Given the description of an element on the screen output the (x, y) to click on. 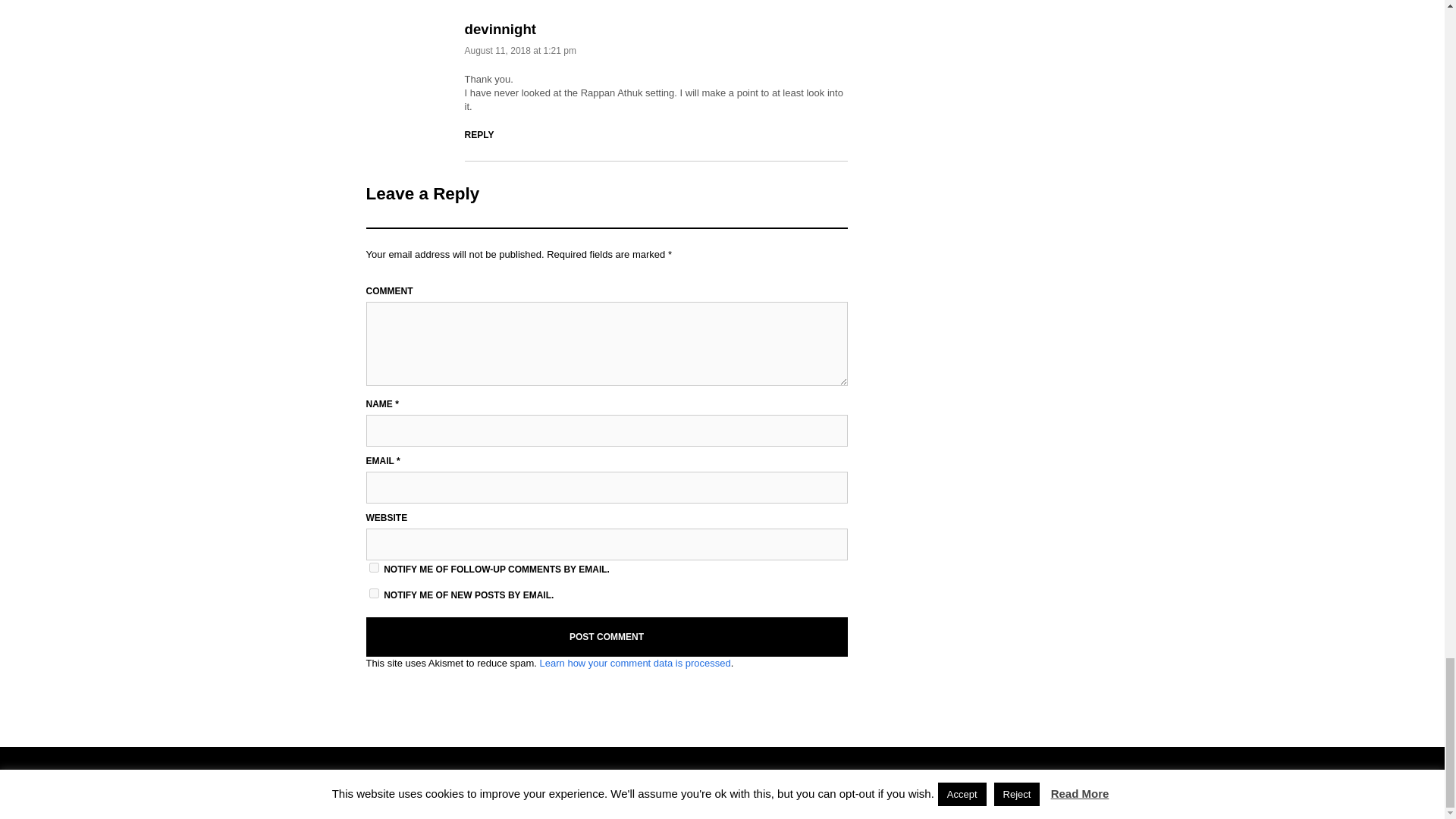
eCommerce WordPress Theme for Woocommerce (1050, 778)
subscribe (373, 567)
Post Comment (606, 636)
subscribe (373, 593)
